Given the description of an element on the screen output the (x, y) to click on. 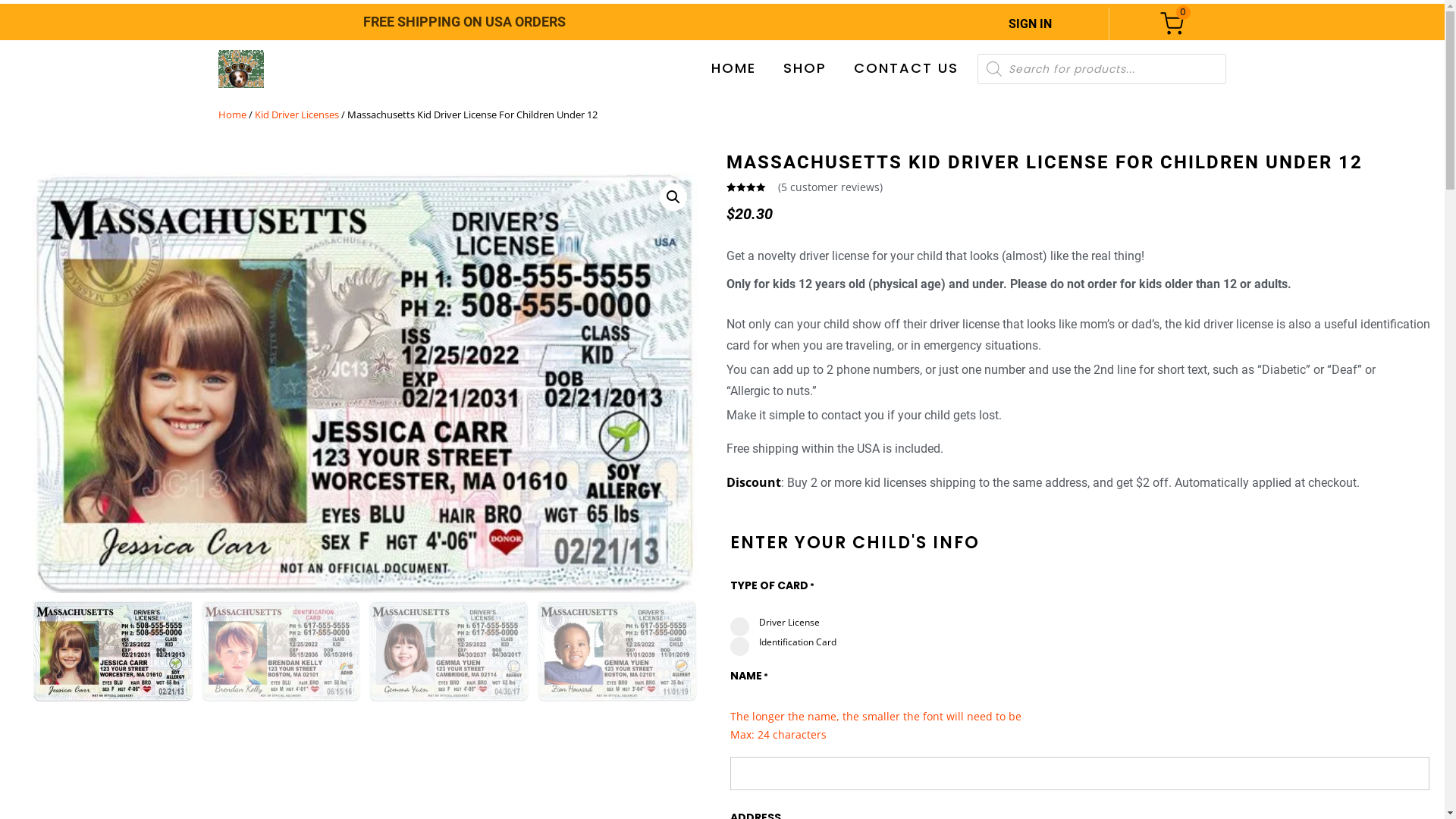
CONTACT US Element type: text (905, 67)
0 Element type: text (1171, 23)
HOME Element type: text (733, 67)
Kid Driver Licenses Element type: text (296, 114)
SIGN IN Element type: text (1029, 23)
SHOP Element type: text (804, 67)
(5 customer reviews) Element type: text (830, 186)
massachusetts kid driver license wg Element type: hover (364, 382)
Home Element type: text (232, 114)
